Given the description of an element on the screen output the (x, y) to click on. 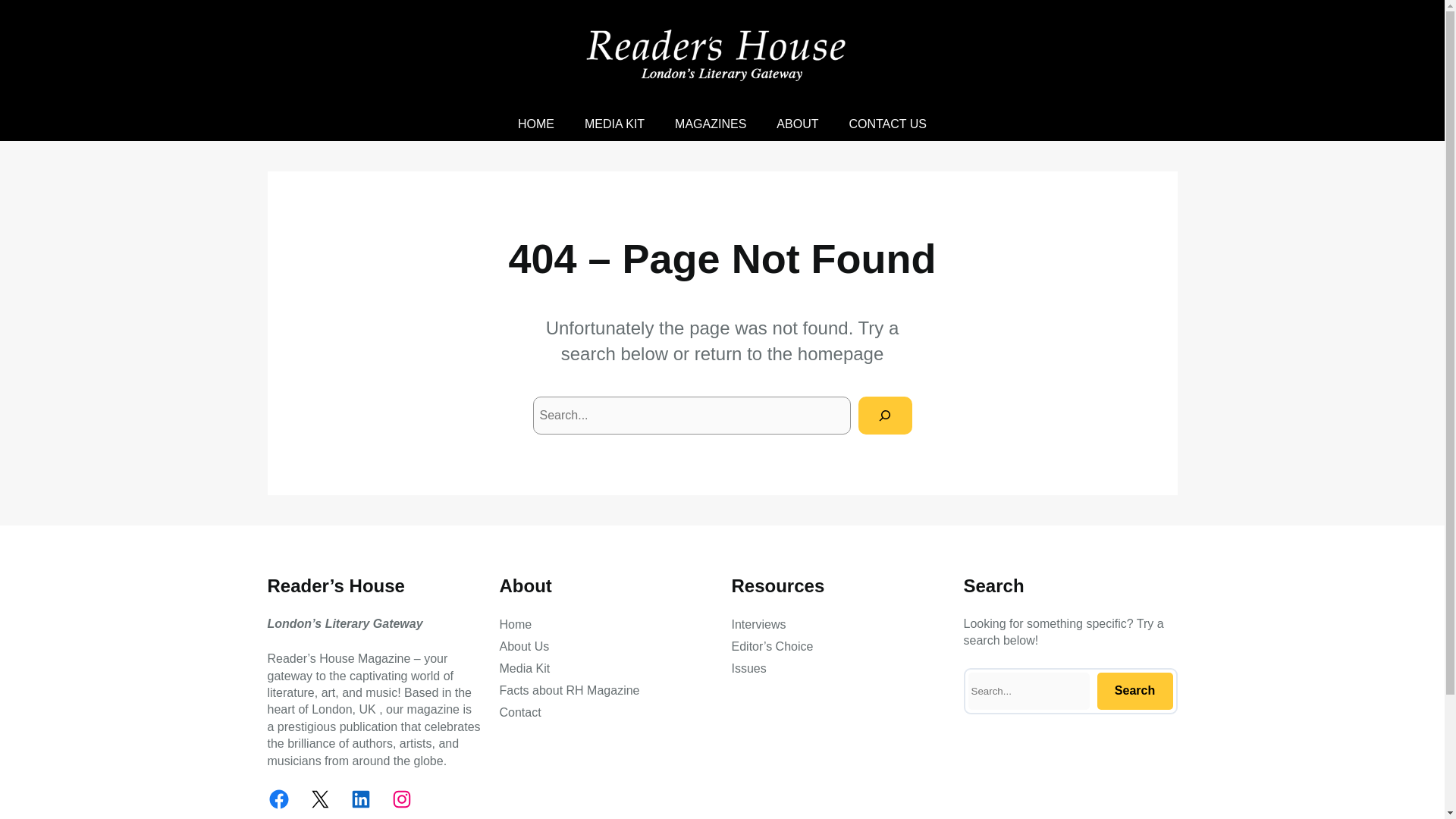
MAGAZINES (710, 124)
Search (1134, 691)
ABOUT (797, 124)
MEDIA KIT (615, 124)
About Us (523, 647)
Facts about RH Magazine (569, 690)
HOME (536, 124)
Contact (519, 712)
homepage (840, 353)
LinkedIn (360, 798)
Issues (747, 669)
Instagram (401, 798)
X (318, 798)
Interviews (758, 624)
Facebook (277, 798)
